Given the description of an element on the screen output the (x, y) to click on. 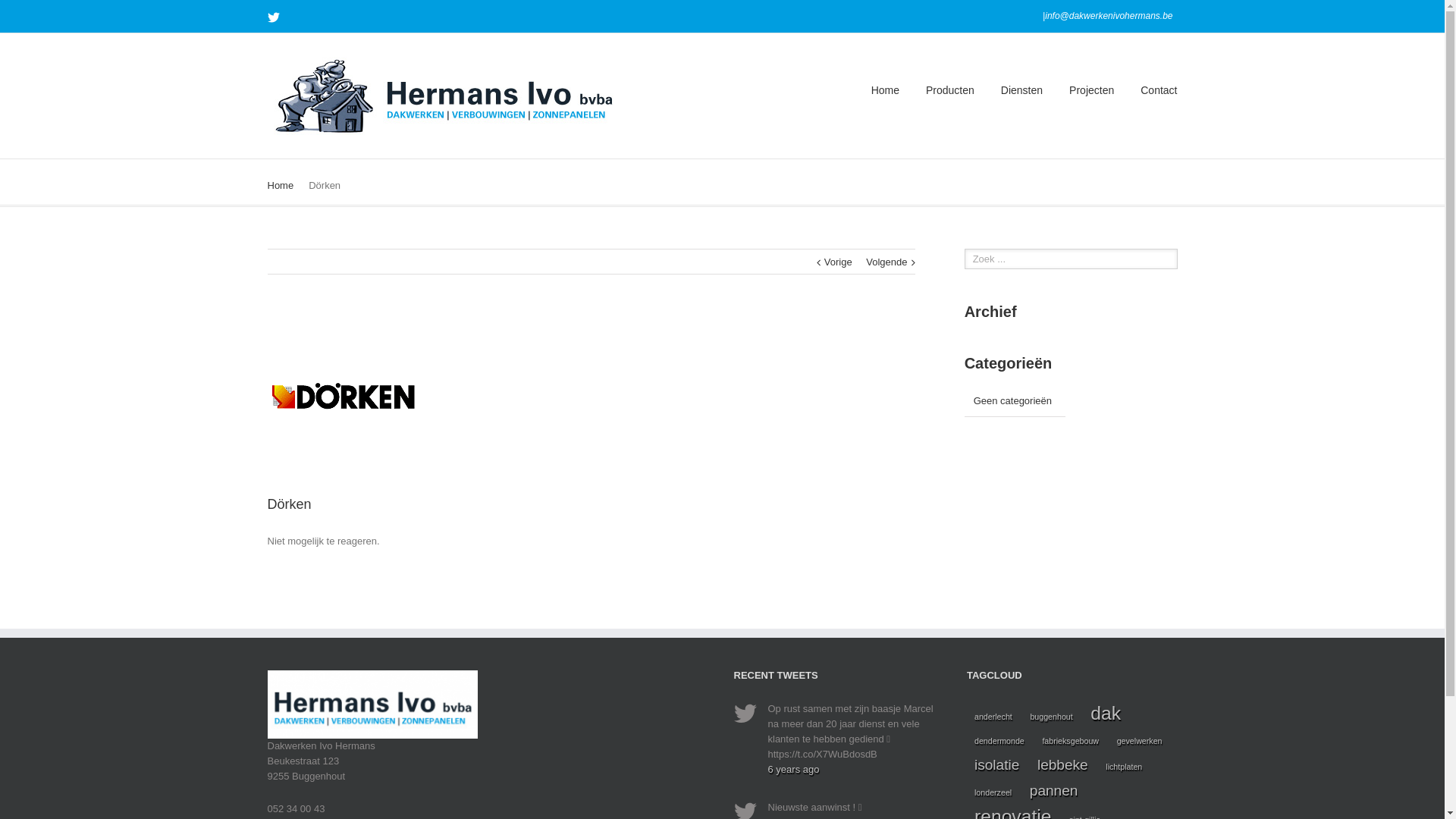
dak Element type: text (1105, 713)
info@dakwerkenivohermans.be Element type: text (1108, 15)
lebbeke Element type: text (1062, 764)
Producten Element type: text (949, 89)
fabrieksgebouw Element type: text (1070, 740)
anderlecht Element type: text (992, 716)
dendermonde Element type: text (999, 740)
Volgende Element type: text (886, 262)
Home Element type: text (279, 185)
Home Element type: text (885, 89)
londerzeel Element type: text (992, 792)
Diensten Element type: text (1021, 89)
lichtplaten Element type: text (1123, 766)
isolatie Element type: text (996, 764)
Vorige Element type: text (838, 262)
buggenhout Element type: text (1050, 716)
6 years ago Element type: text (793, 769)
Projecten Element type: text (1091, 89)
Contact Element type: text (1158, 89)
pannen Element type: text (1053, 790)
gevelwerken Element type: text (1139, 740)
